Given the description of an element on the screen output the (x, y) to click on. 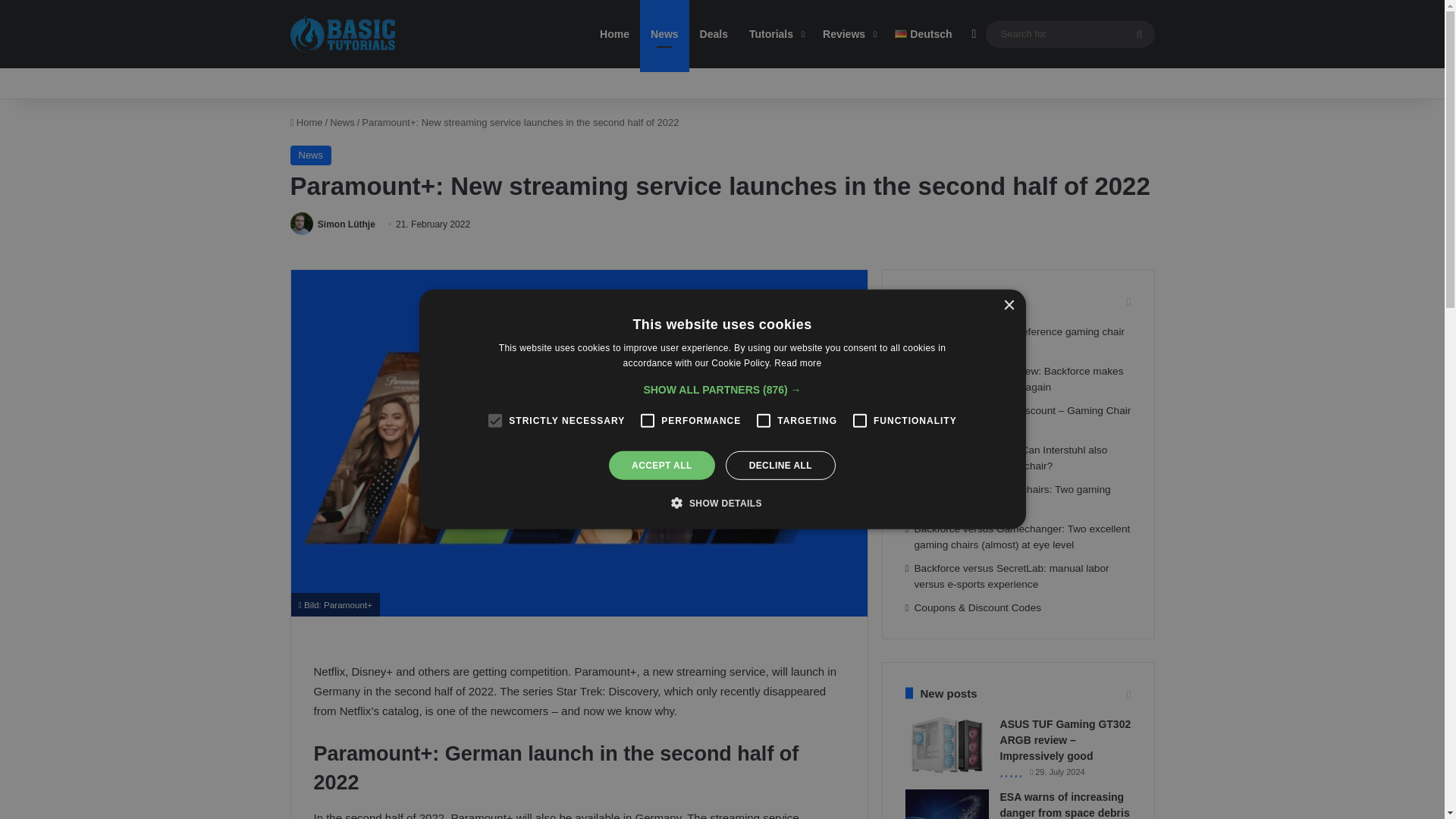
Search for (1139, 33)
News (310, 155)
Search for (1069, 33)
News (342, 122)
Deutsch (922, 33)
Reviews (847, 33)
Basic Tutorials (342, 34)
Home (305, 122)
Tutorials (775, 33)
